Given the description of an element on the screen output the (x, y) to click on. 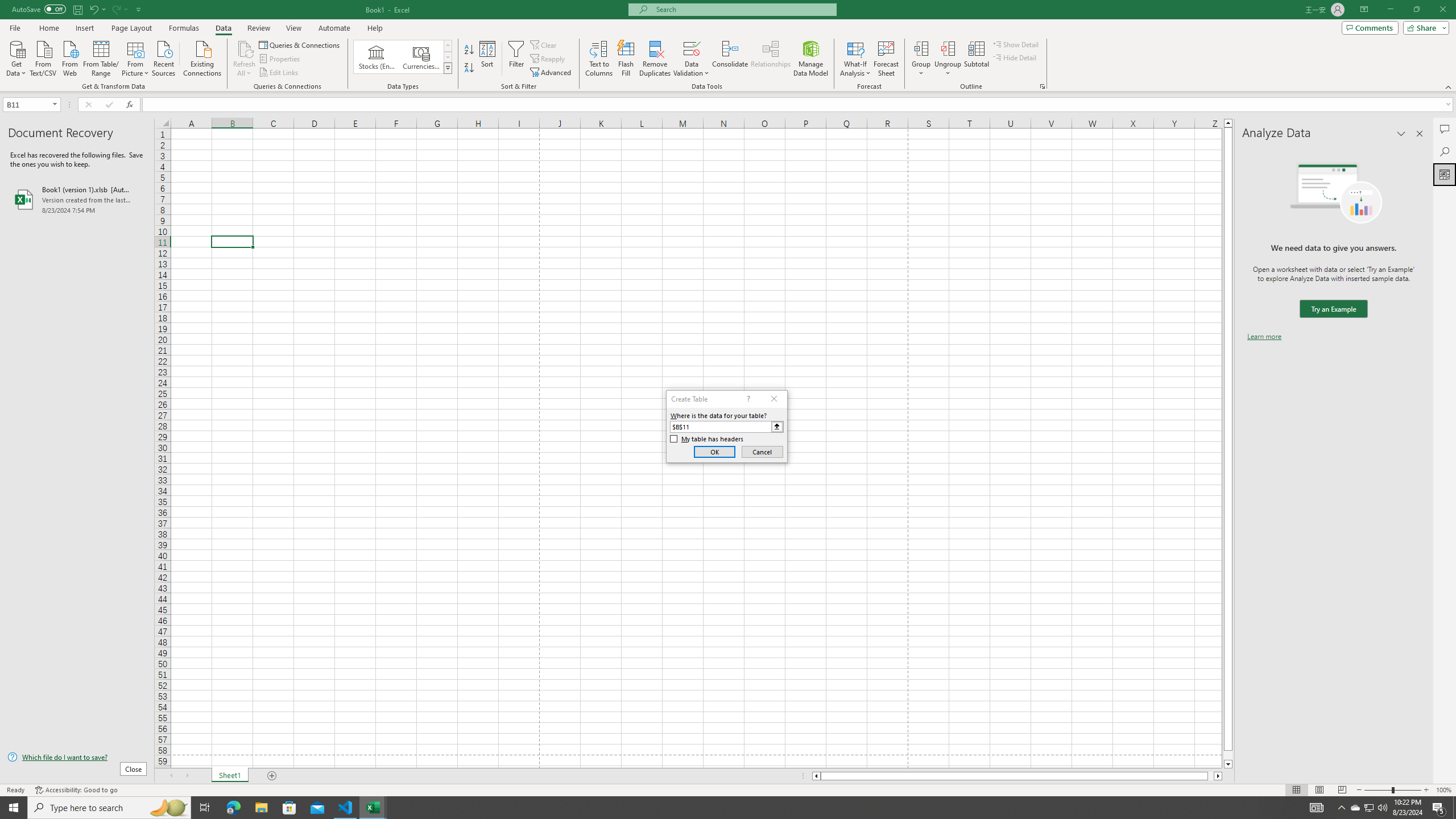
Sort... (487, 58)
Help (374, 28)
Review (258, 28)
Search (1444, 151)
Forecast Sheet (885, 58)
Save (77, 9)
Subtotal (976, 58)
Line up (1228, 122)
Analyze Data (1444, 173)
Data Types (448, 67)
Ungroup... (947, 48)
Existing Connections (202, 57)
Formulas (184, 28)
